Given the description of an element on the screen output the (x, y) to click on. 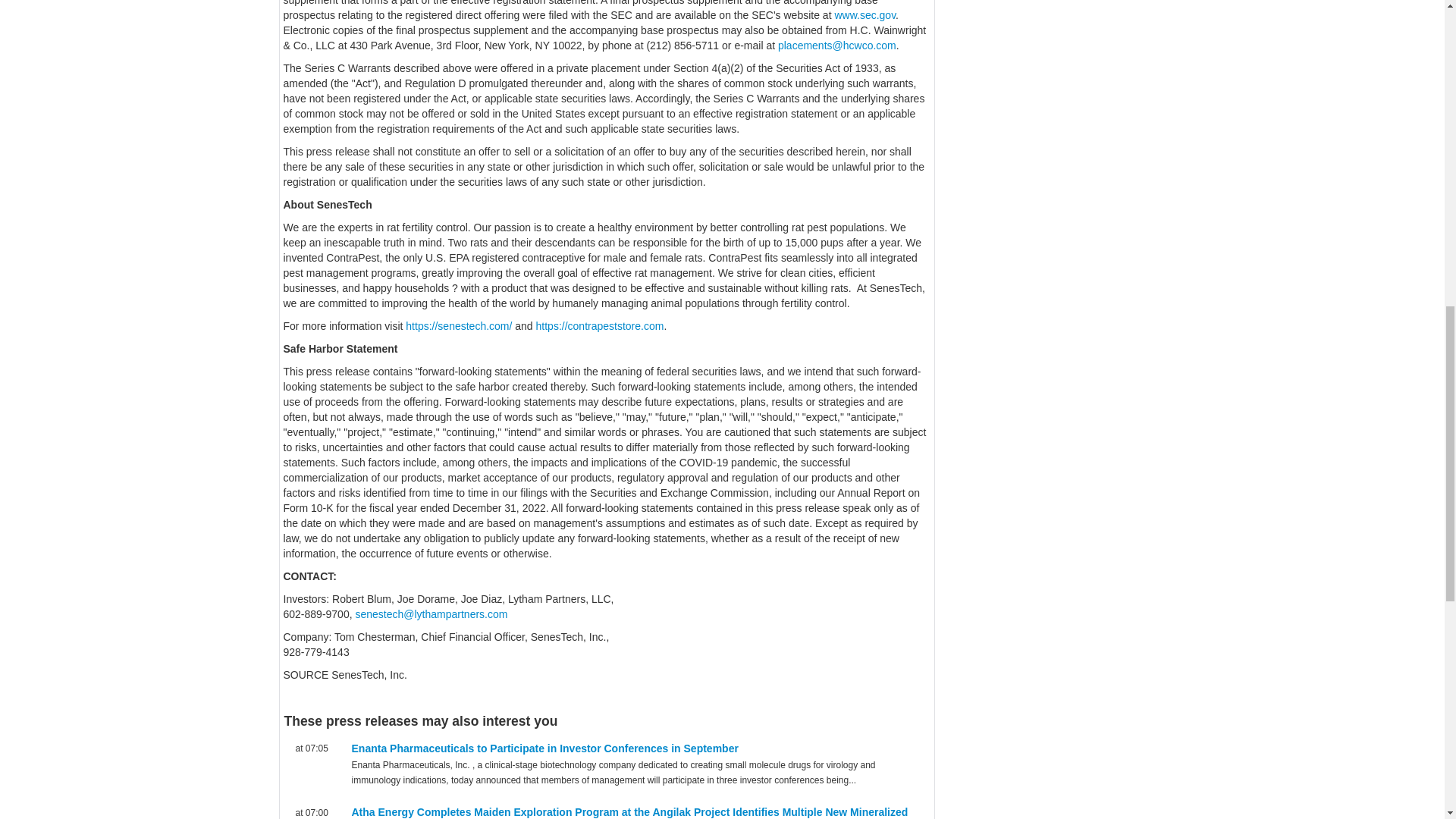
www.sec.gov (864, 15)
